Given the description of an element on the screen output the (x, y) to click on. 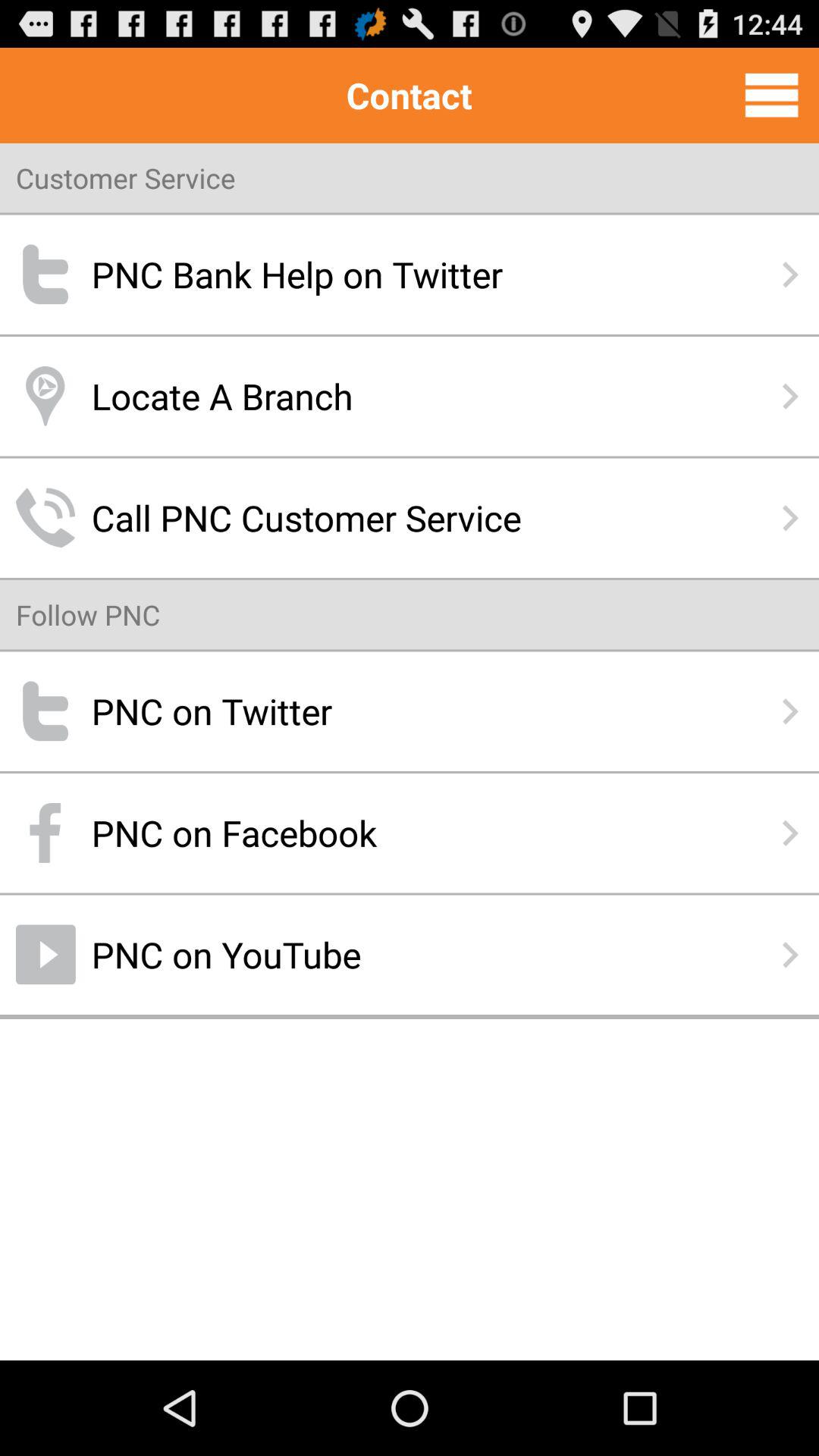
open item above the pnc bank help icon (771, 95)
